Given the description of an element on the screen output the (x, y) to click on. 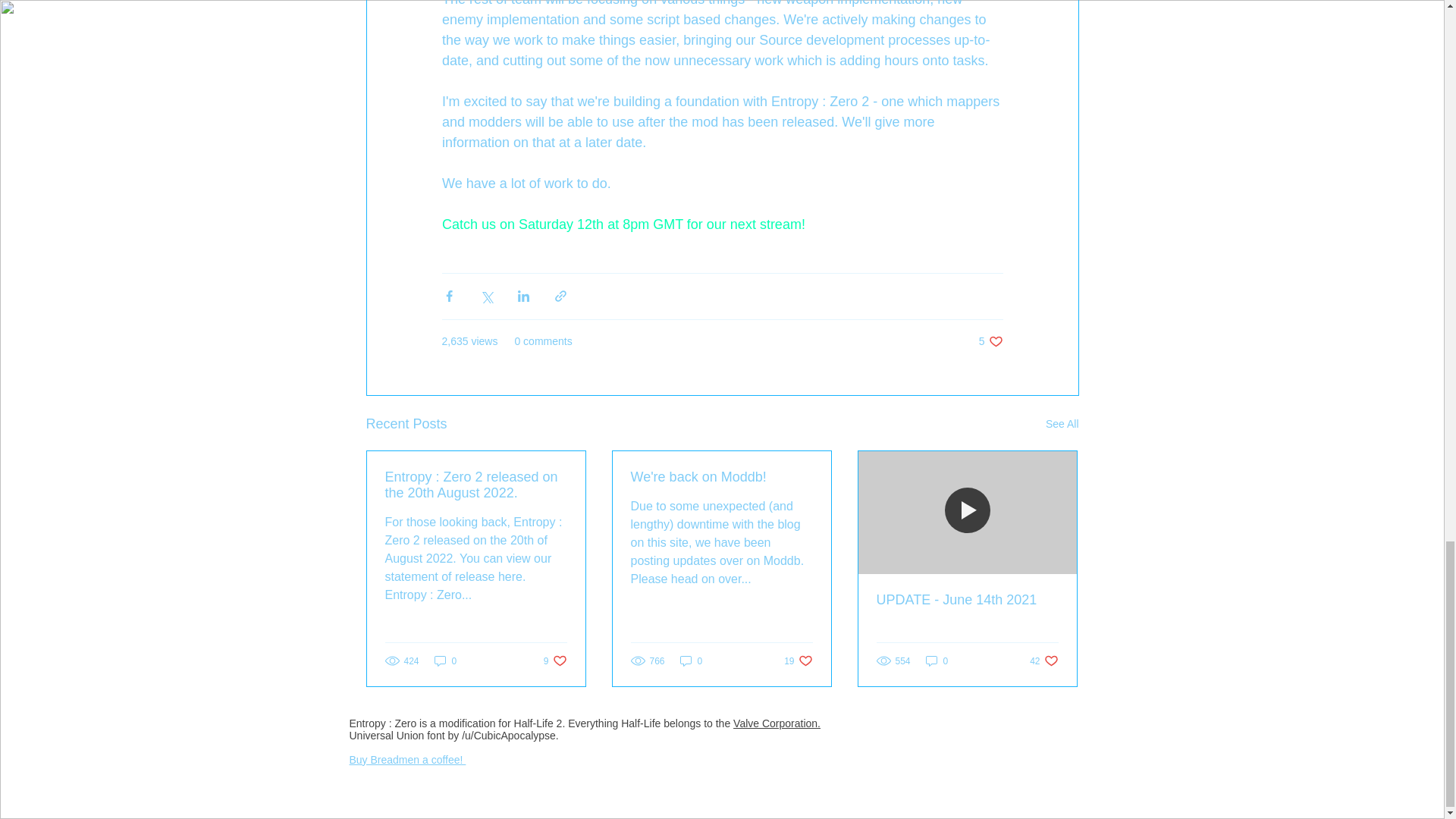
UPDATE - June 14th 2021 (967, 600)
0 (937, 660)
Entropy : Zero 2 released on the 20th August 2022. (555, 660)
0 (476, 485)
See All (798, 660)
Valve Corporation. (445, 660)
